Given the description of an element on the screen output the (x, y) to click on. 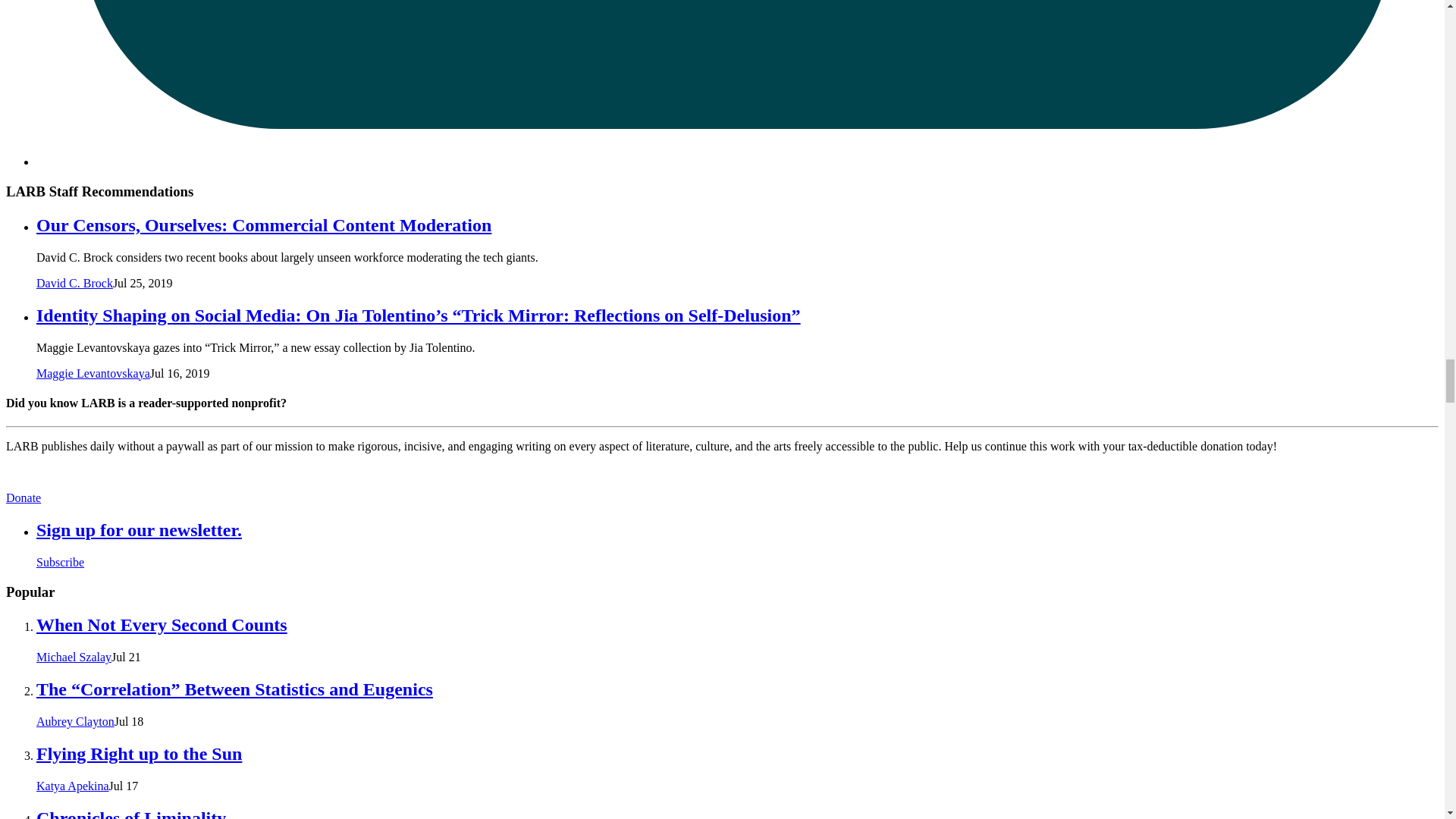
Our Censors, Ourselves: Commercial Content Moderation (264, 225)
David C. Brock (74, 282)
Maggie Levantovskaya (92, 373)
